Given the description of an element on the screen output the (x, y) to click on. 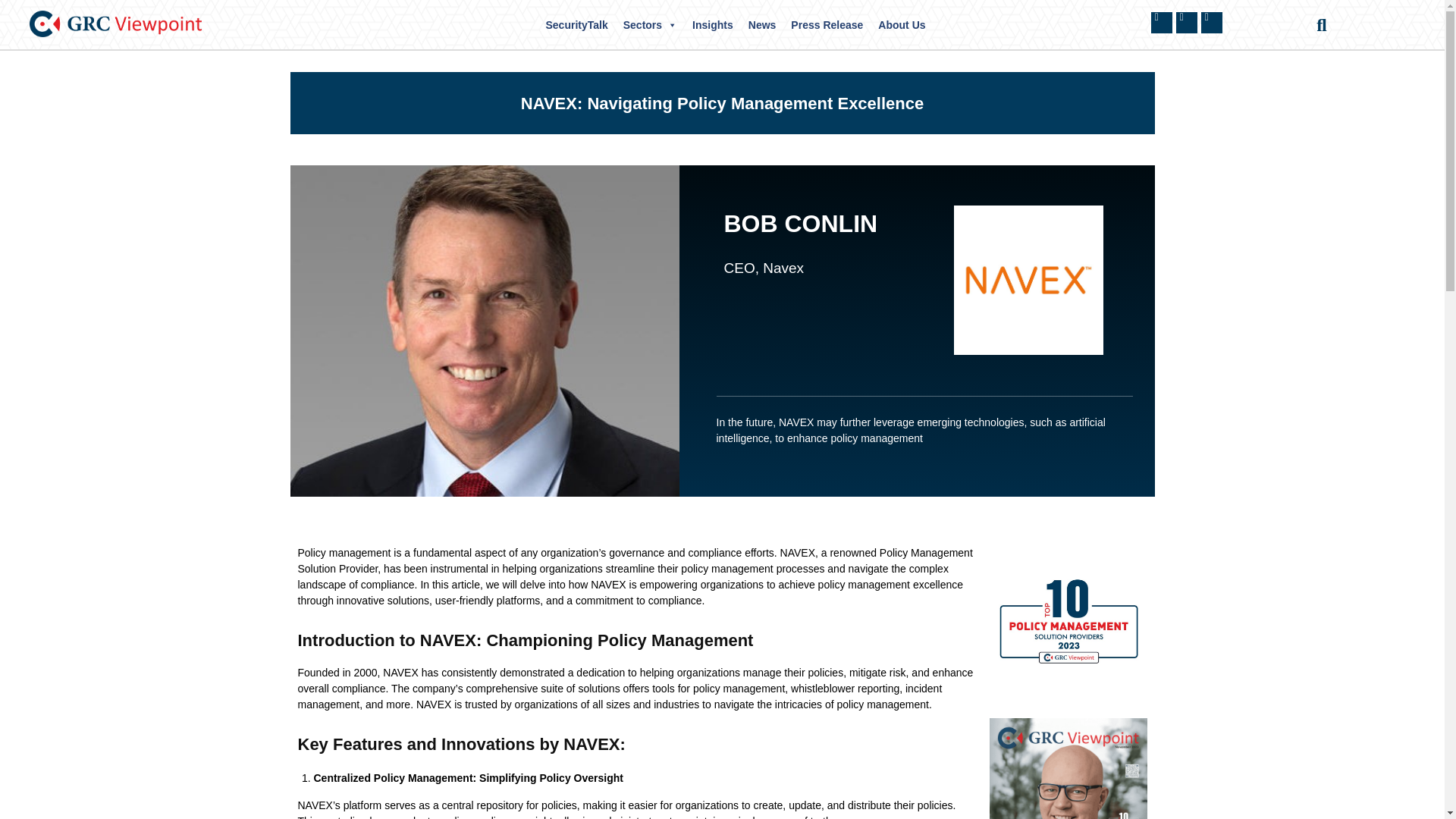
top-10-policy-management-solution-providers-2023-1-1 (1067, 768)
Sectors (649, 24)
SecurityTalk (576, 24)
